Given the description of an element on the screen output the (x, y) to click on. 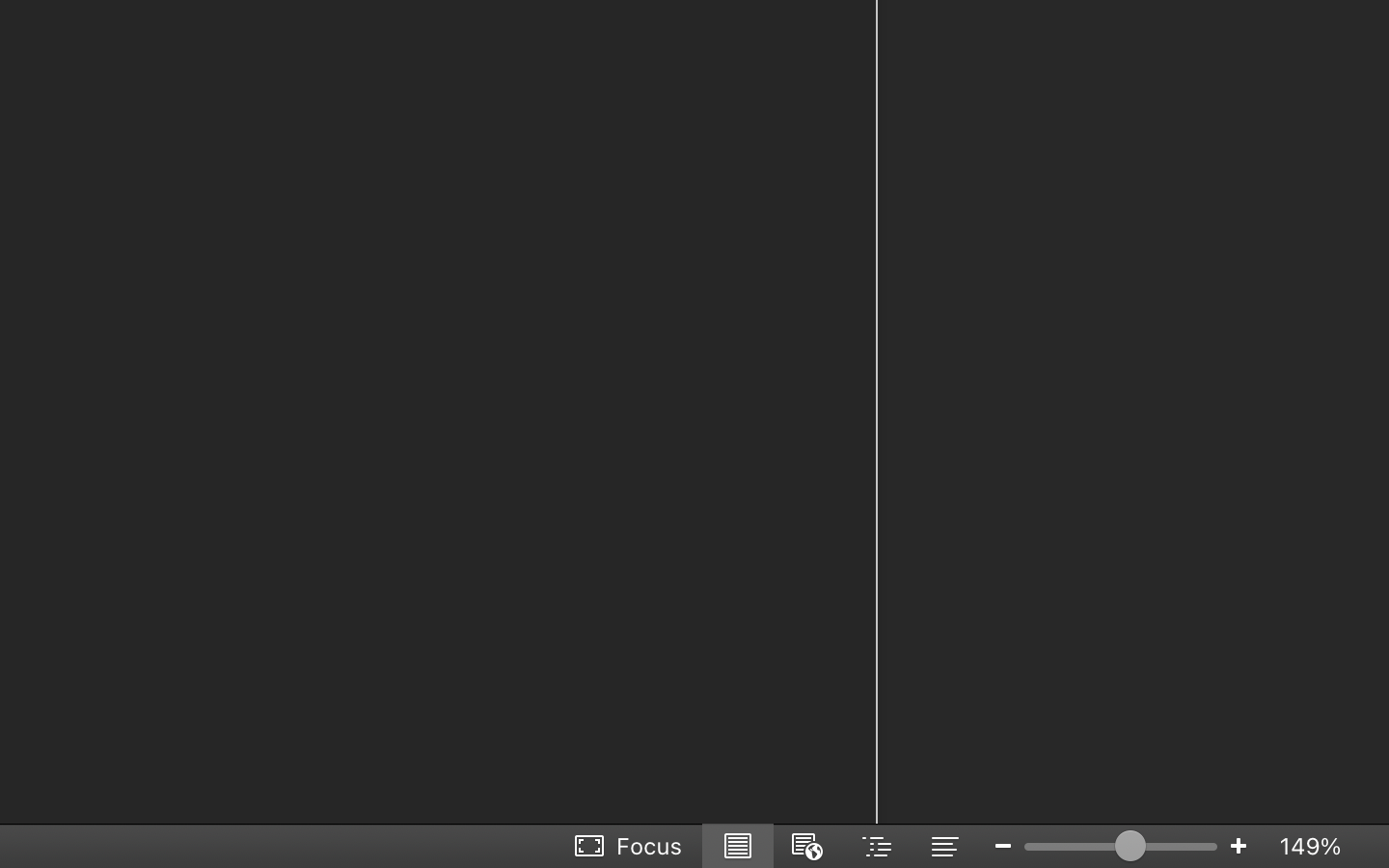
0 Element type: AXCheckBox (629, 845)
1123.0 Element type: AXSlider (1120, 845)
